Given the description of an element on the screen output the (x, y) to click on. 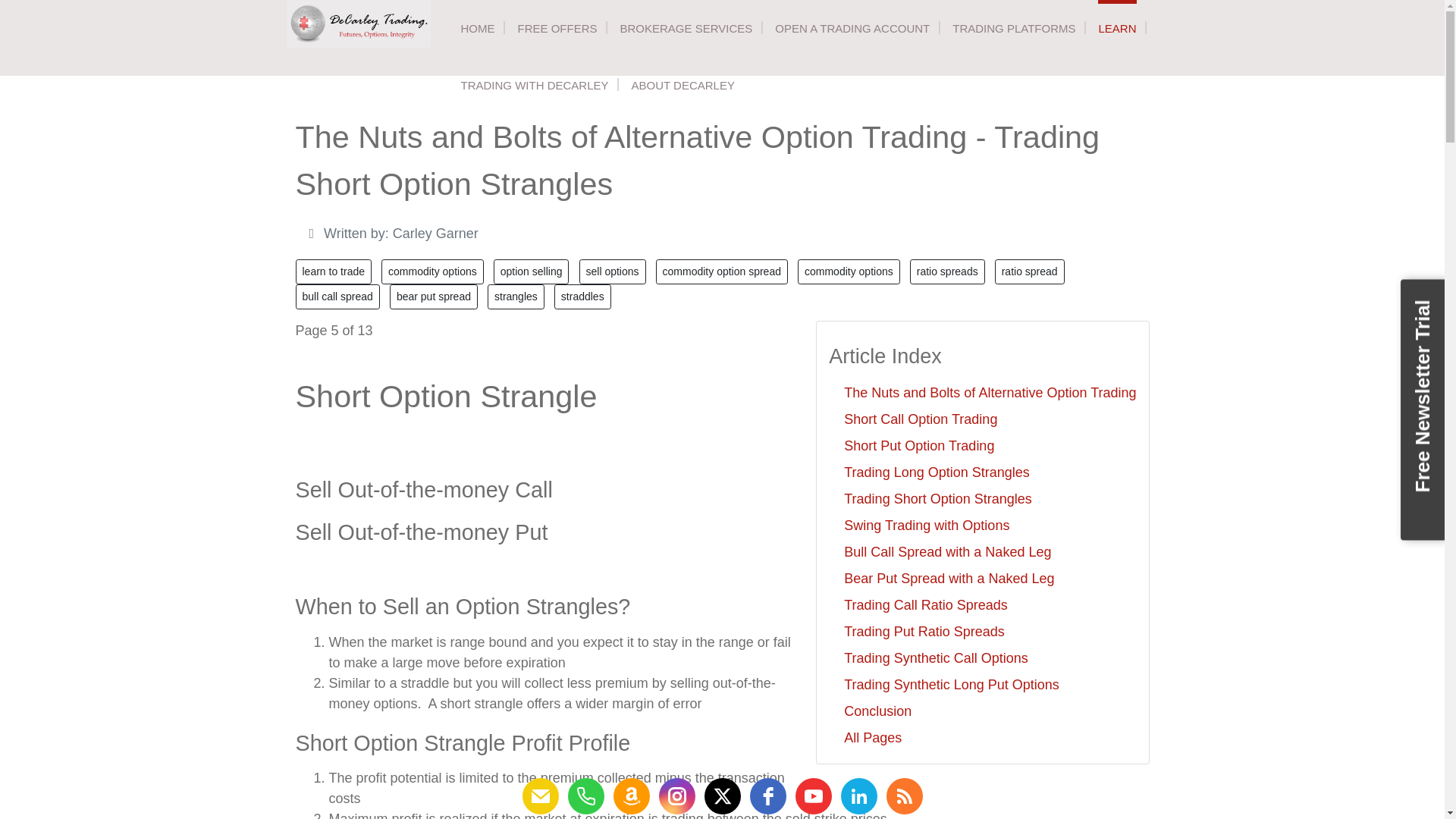
Instagram (676, 796)
RSS (903, 796)
Email (539, 796)
Facebook (767, 796)
Twitter (721, 796)
YouTube (812, 796)
Phone (585, 796)
LinkedIn (858, 796)
Amazon (630, 796)
FREE OFFERS (556, 28)
BROKERAGE SERVICES (686, 28)
